Given the description of an element on the screen output the (x, y) to click on. 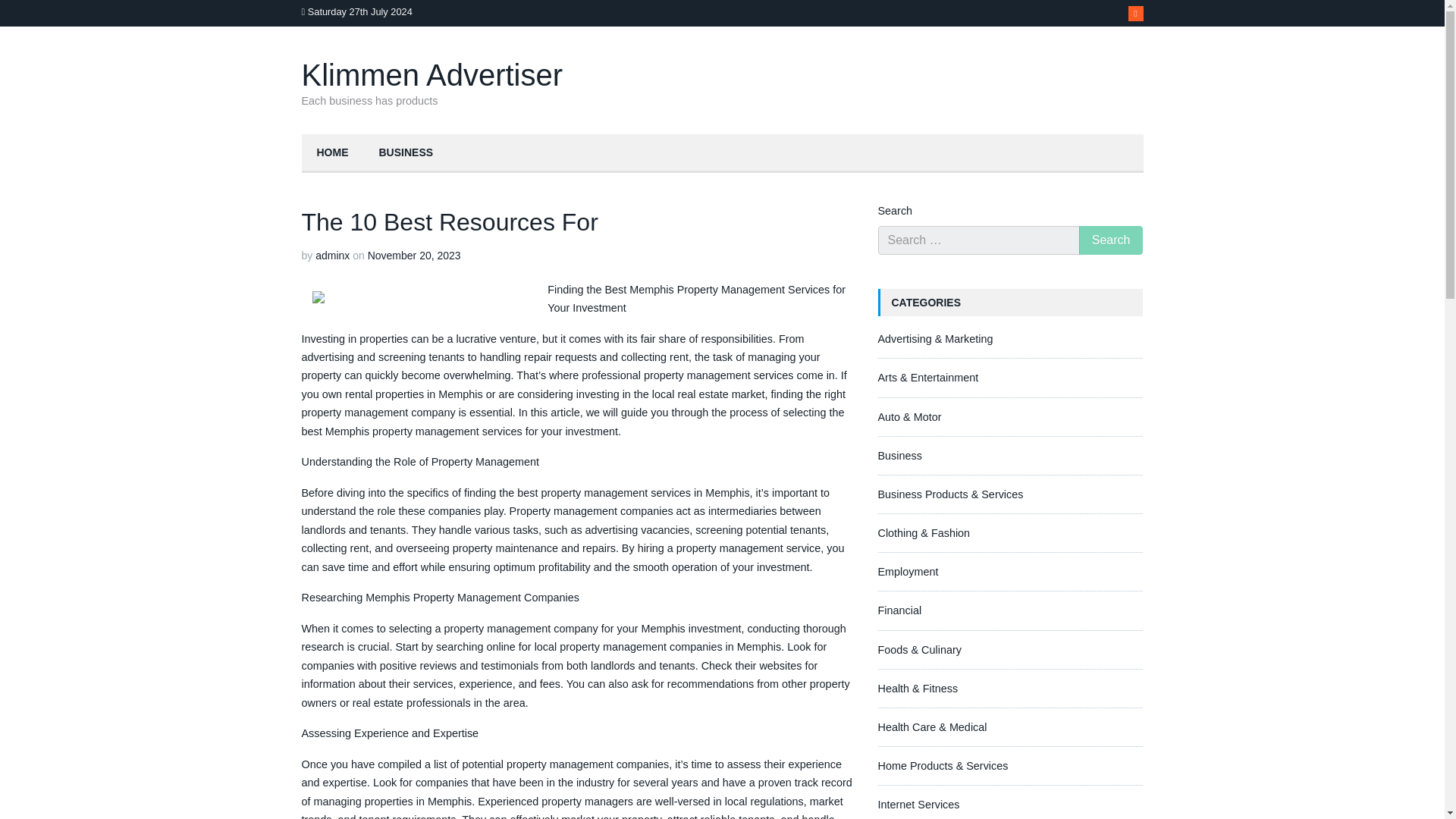
Klimmen Advertiser (432, 74)
Search (1110, 240)
November 20, 2023 (414, 255)
HOME (332, 153)
Business (899, 455)
Home (332, 153)
Search (1110, 240)
Employment (908, 571)
Business (406, 153)
Financial (899, 610)
adminx (332, 255)
Klimmen Advertiser (432, 74)
BUSINESS (406, 153)
Internet Services (918, 804)
